Given the description of an element on the screen output the (x, y) to click on. 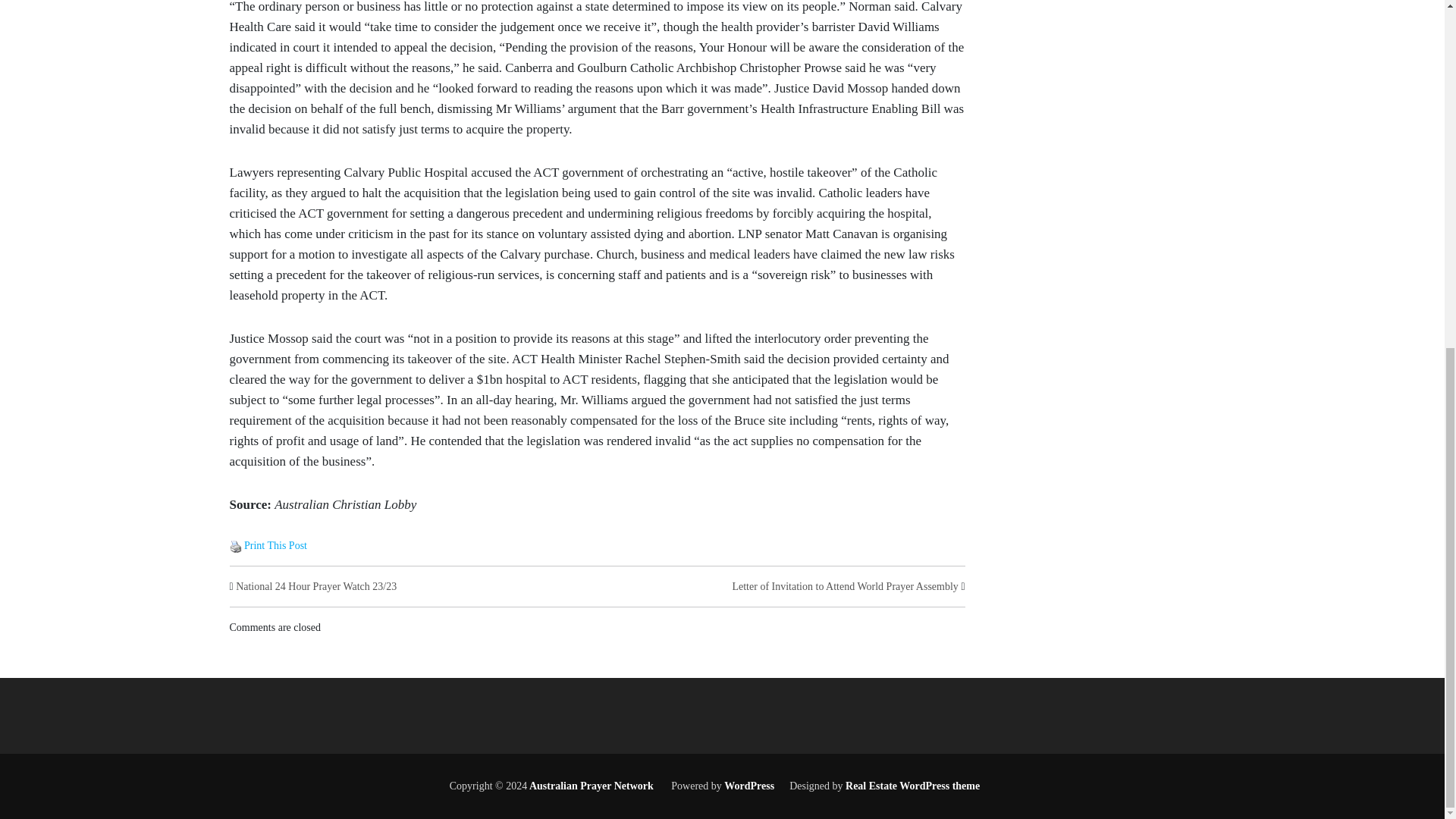
Print This Post (234, 546)
Letter of Invitation to Attend World Prayer Assembly (845, 586)
Print This Post (275, 545)
Real Estate WordPress theme (911, 785)
WordPress (748, 785)
Print This Post (275, 545)
Print This Post (234, 545)
Australian Prayer Network (590, 785)
